Given the description of an element on the screen output the (x, y) to click on. 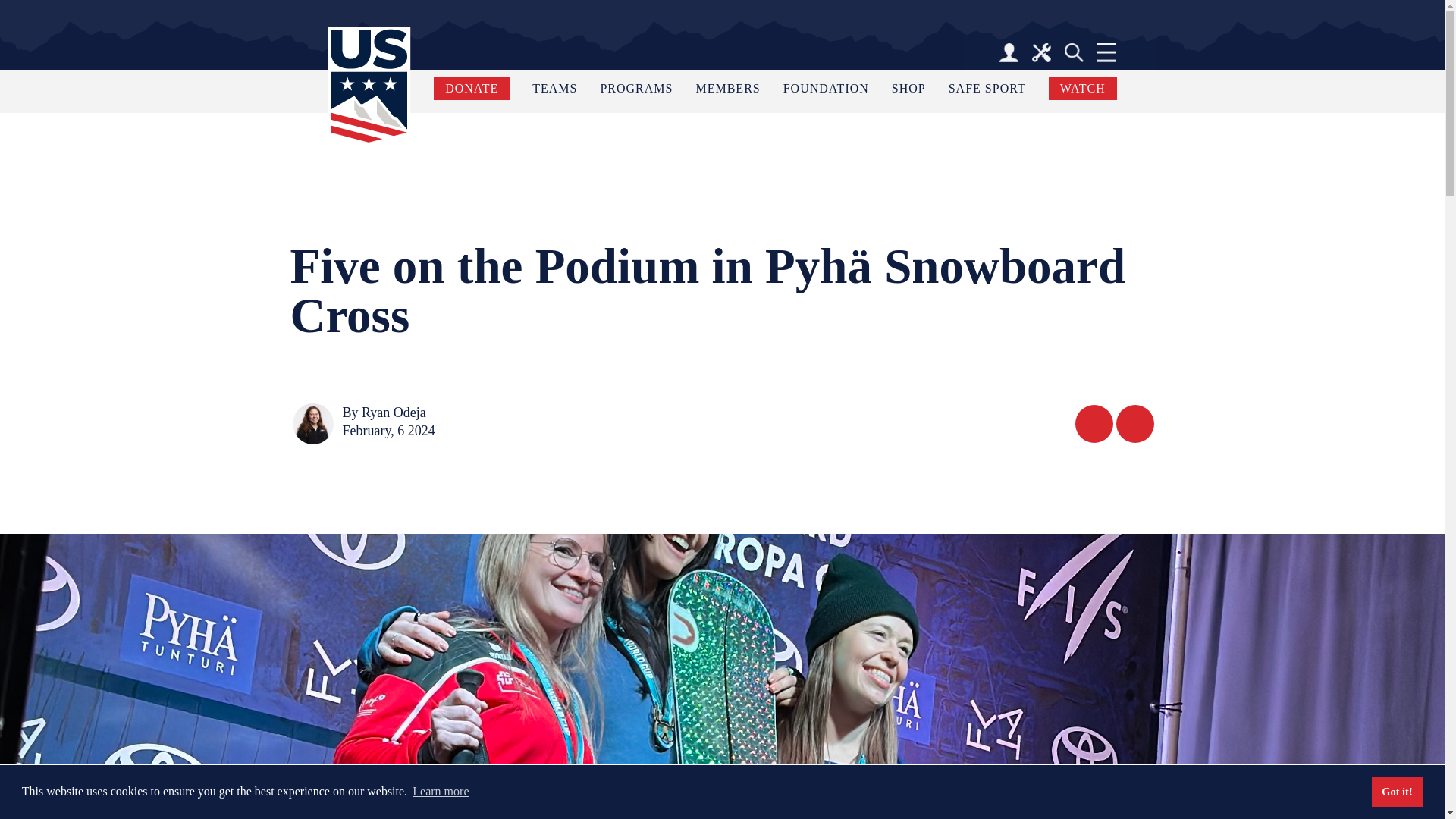
FOUNDATION (826, 88)
Learn more (440, 791)
PROGRAMS (635, 88)
WATCH (1082, 88)
Programs (635, 88)
TEAMS (554, 88)
MEMBERS (727, 88)
SAFE SPORT (987, 88)
Got it! (1396, 791)
